Given the description of an element on the screen output the (x, y) to click on. 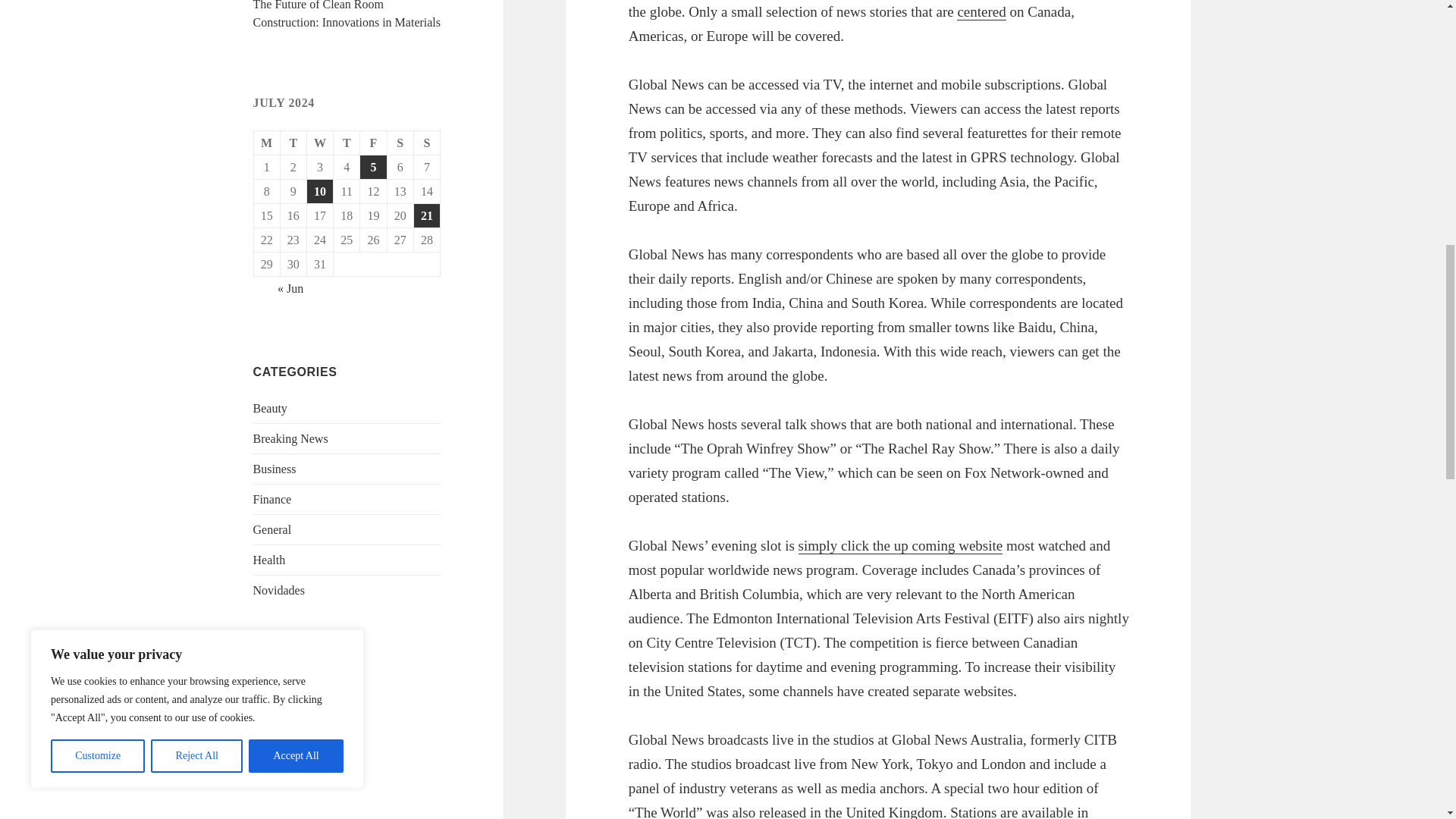
General (272, 529)
Beauty (269, 408)
Thursday (346, 143)
Saturday (400, 143)
Monday (267, 143)
Finance (272, 499)
Wednesday (320, 143)
21 (426, 215)
Sunday (427, 143)
Business (275, 468)
Friday (373, 143)
10 (320, 191)
Breaking News (291, 438)
5 (372, 167)
